Given the description of an element on the screen output the (x, y) to click on. 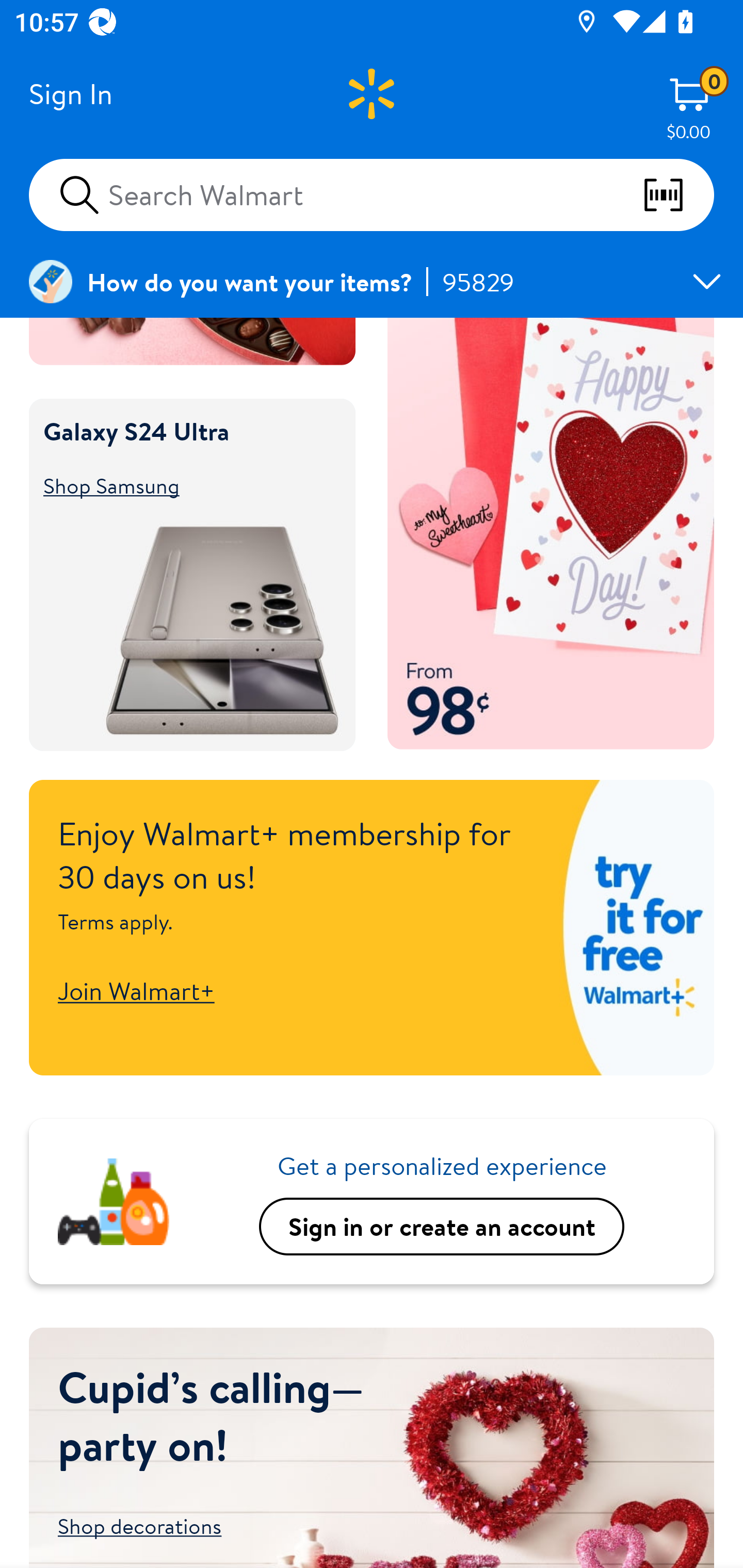
Sign In (70, 93)
Search Walmart scan barcodes qr codes and more (371, 194)
scan barcodes qr codes and more (677, 195)
Say it from the heart  Shop cards Shop cards (550, 533)
Shop Samsung Shop Samsung Galaxy S24 Ultra (183, 485)
Sign in or create an account (441, 1226)
